Given the description of an element on the screen output the (x, y) to click on. 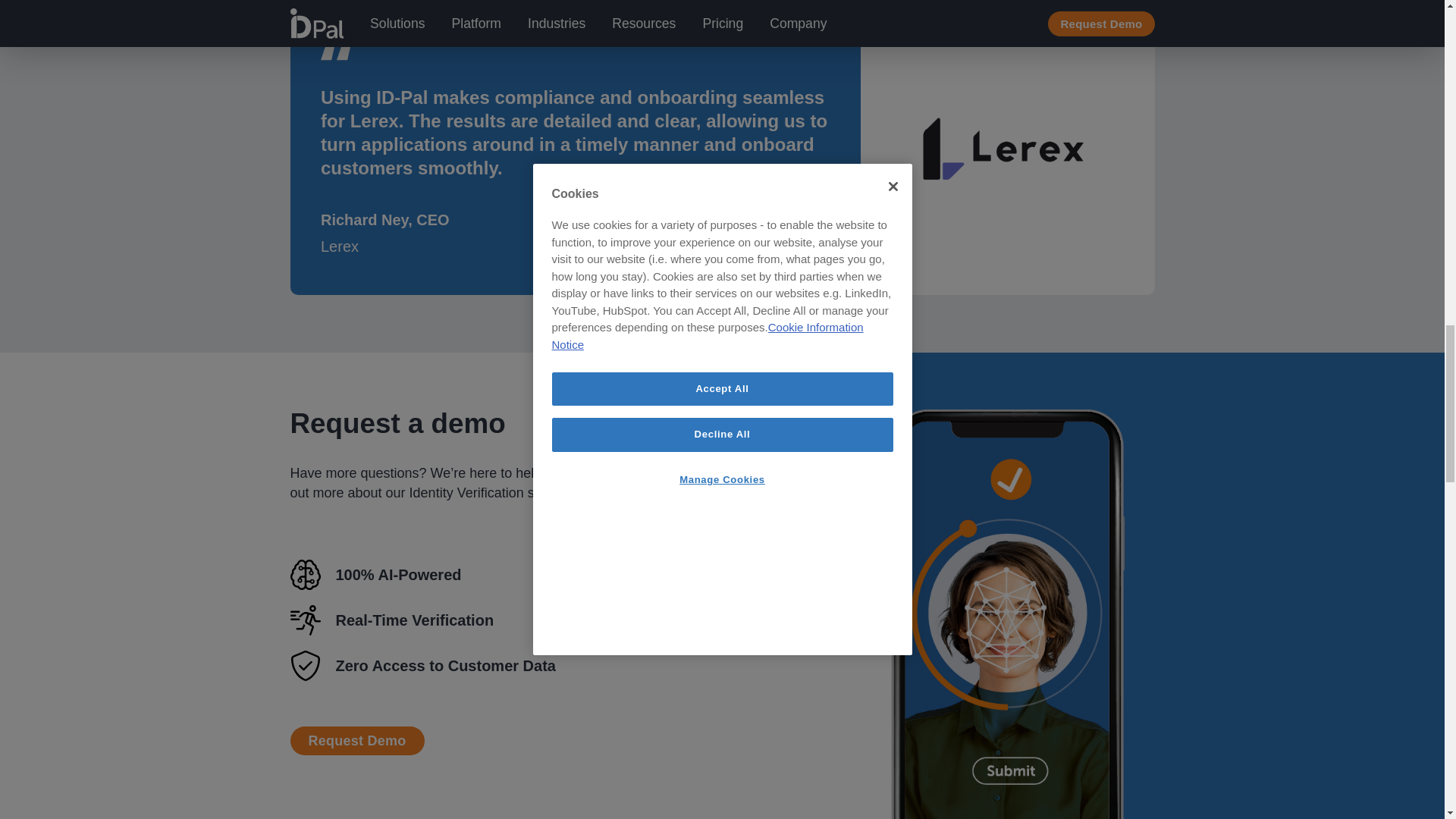
Page 2 (477, 482)
